Given the description of an element on the screen output the (x, y) to click on. 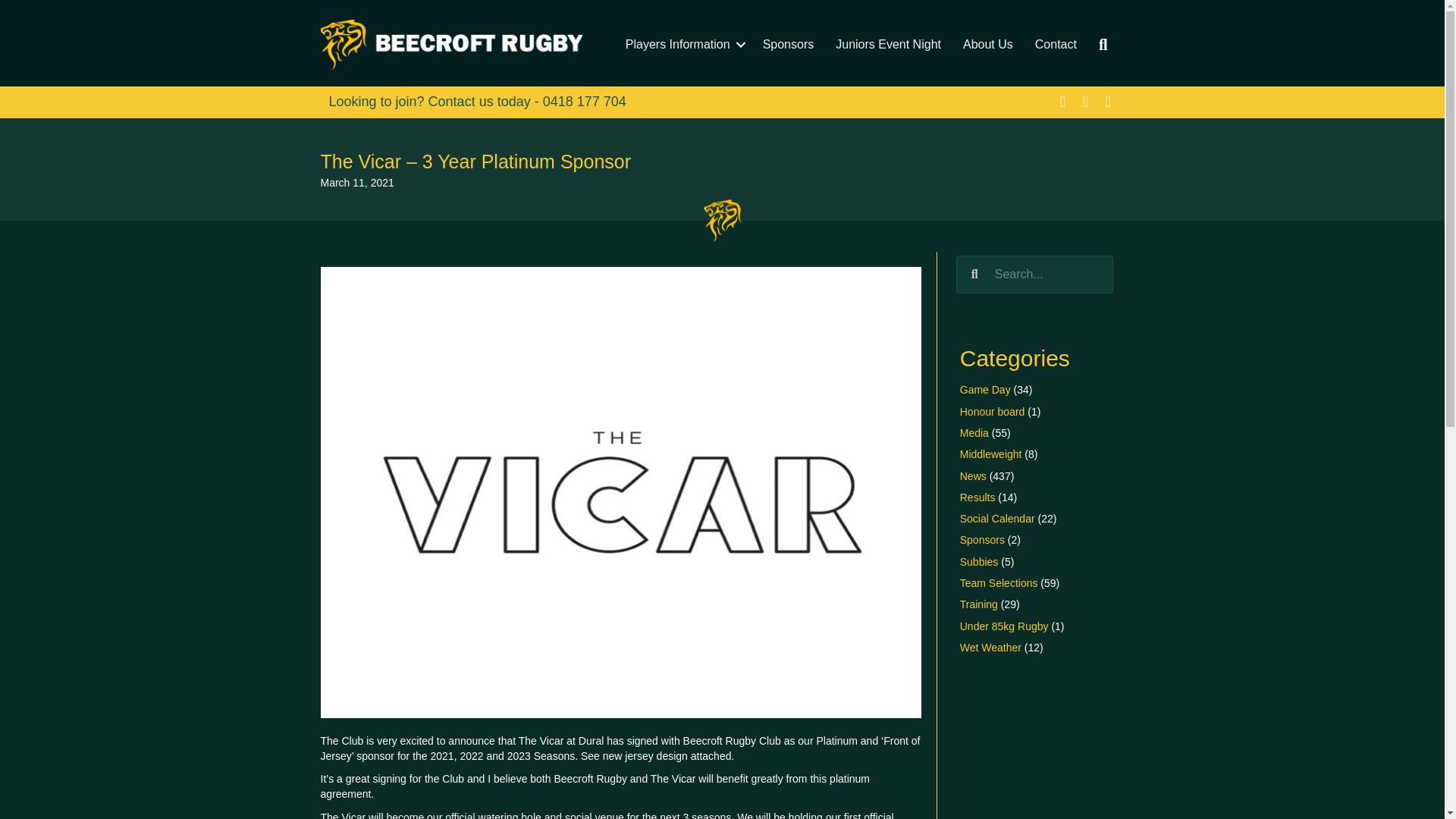
Honour board (992, 411)
Players Information (682, 44)
Training (978, 604)
Middleweight (990, 453)
Beecroft-rugby-logo-header (450, 44)
Juniors Event Night (888, 44)
Social Calendar (997, 518)
Game Day (984, 389)
Sponsors (788, 44)
Under 85kg Rugby (1003, 625)
